Given the description of an element on the screen output the (x, y) to click on. 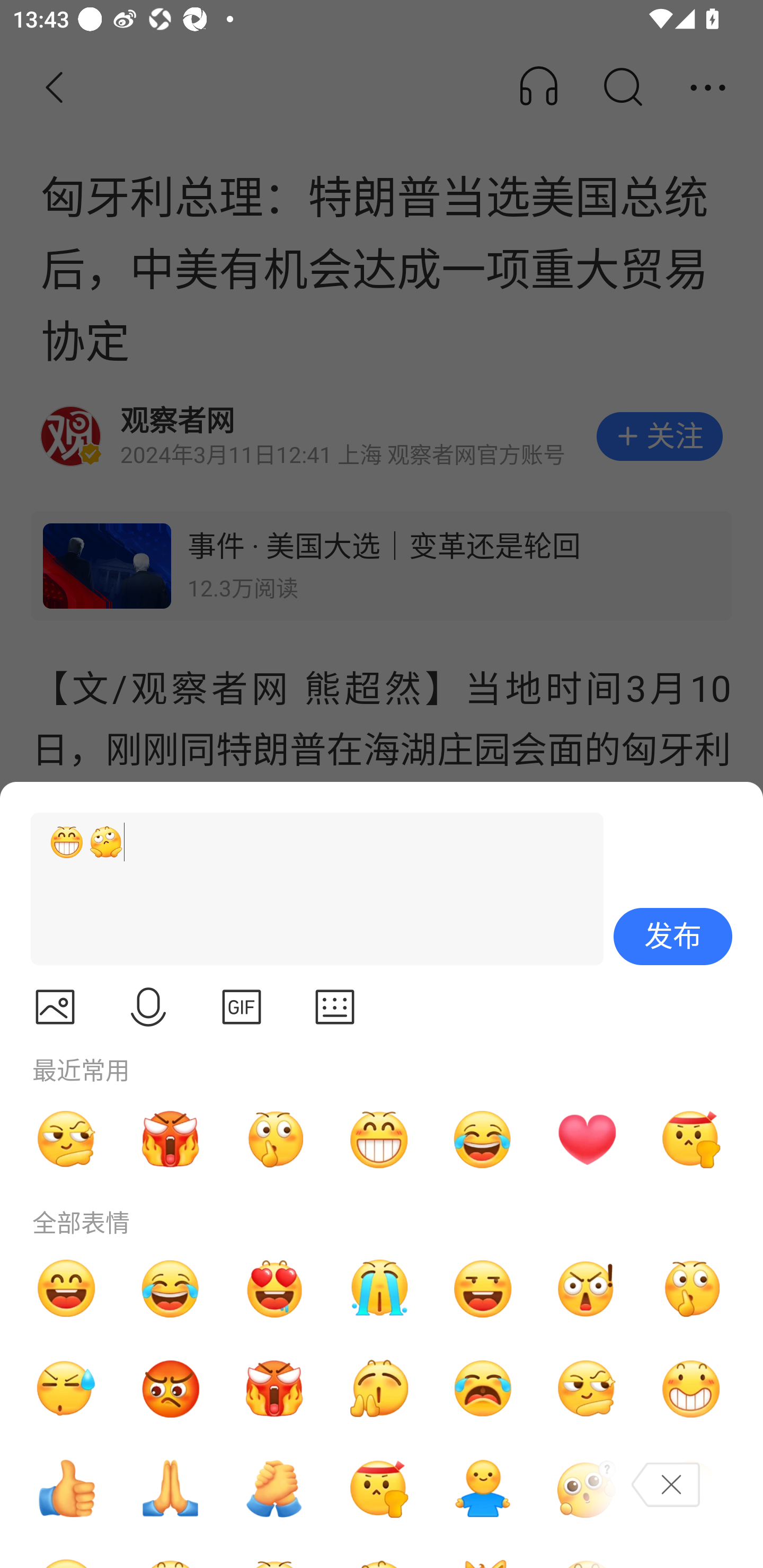
[呲牙][无聊] (308, 888)
发布 (672, 936)
 (54, 1007)
 (148, 1007)
 (241, 1007)
 (334, 1007)
机智 (66, 1138)
愤怒 (170, 1138)
嘘 (274, 1138)
呲牙 (378, 1138)
哭笑 (482, 1138)
心 (586, 1138)
奋斗 (690, 1138)
哈哈 (66, 1288)
哭笑 (170, 1288)
喜欢 (274, 1288)
哭 (378, 1288)
嘿嘿 (482, 1288)
吃惊 (586, 1288)
嘘 (690, 1288)
汗 (66, 1389)
生气 (170, 1389)
愤怒 (274, 1389)
喝彩 (378, 1389)
抓狂 (482, 1389)
机智 (586, 1389)
坏笑 (690, 1389)
点赞 (66, 1488)
缅怀 (170, 1488)
加油 (274, 1488)
奋斗 (378, 1488)
抱抱 (482, 1488)
疑问 (586, 1488)
